Given the description of an element on the screen output the (x, y) to click on. 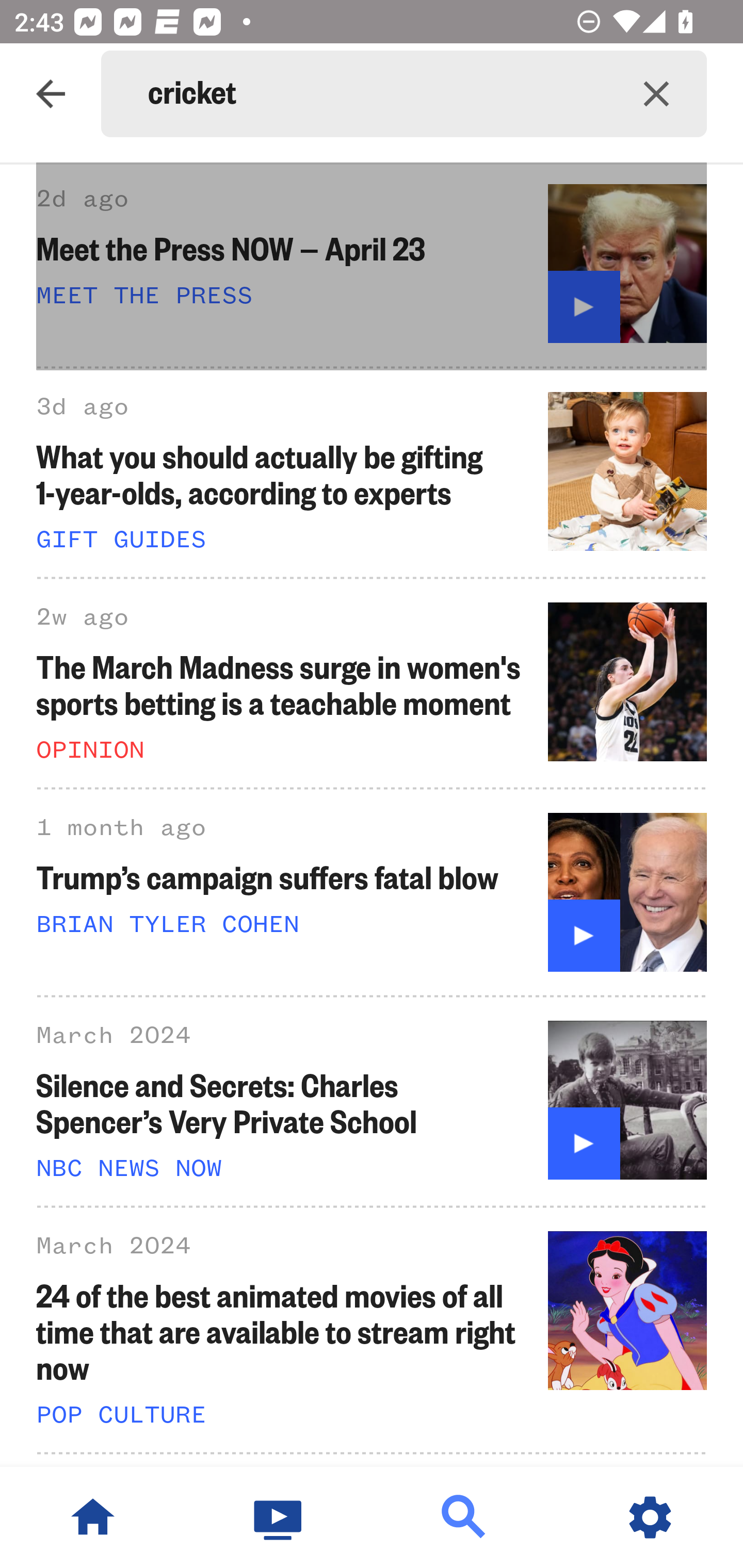
Navigate up (50, 93)
Clear query (656, 93)
cricket (376, 94)
NBC News Home (92, 1517)
Watch (278, 1517)
Settings (650, 1517)
